Given the description of an element on the screen output the (x, y) to click on. 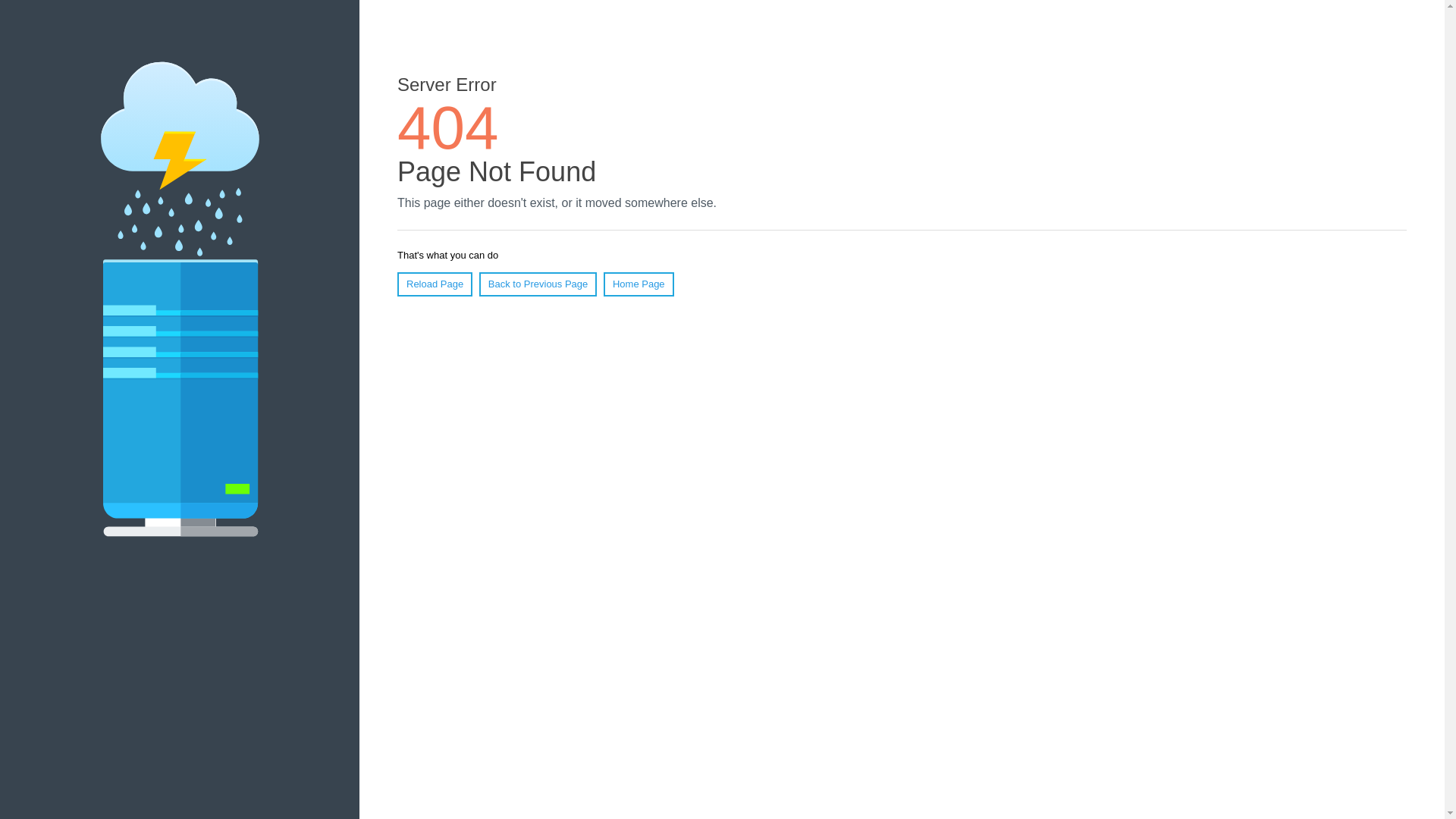
Home Page Element type: text (638, 284)
Reload Page Element type: text (434, 284)
Back to Previous Page Element type: text (538, 284)
